Given the description of an element on the screen output the (x, y) to click on. 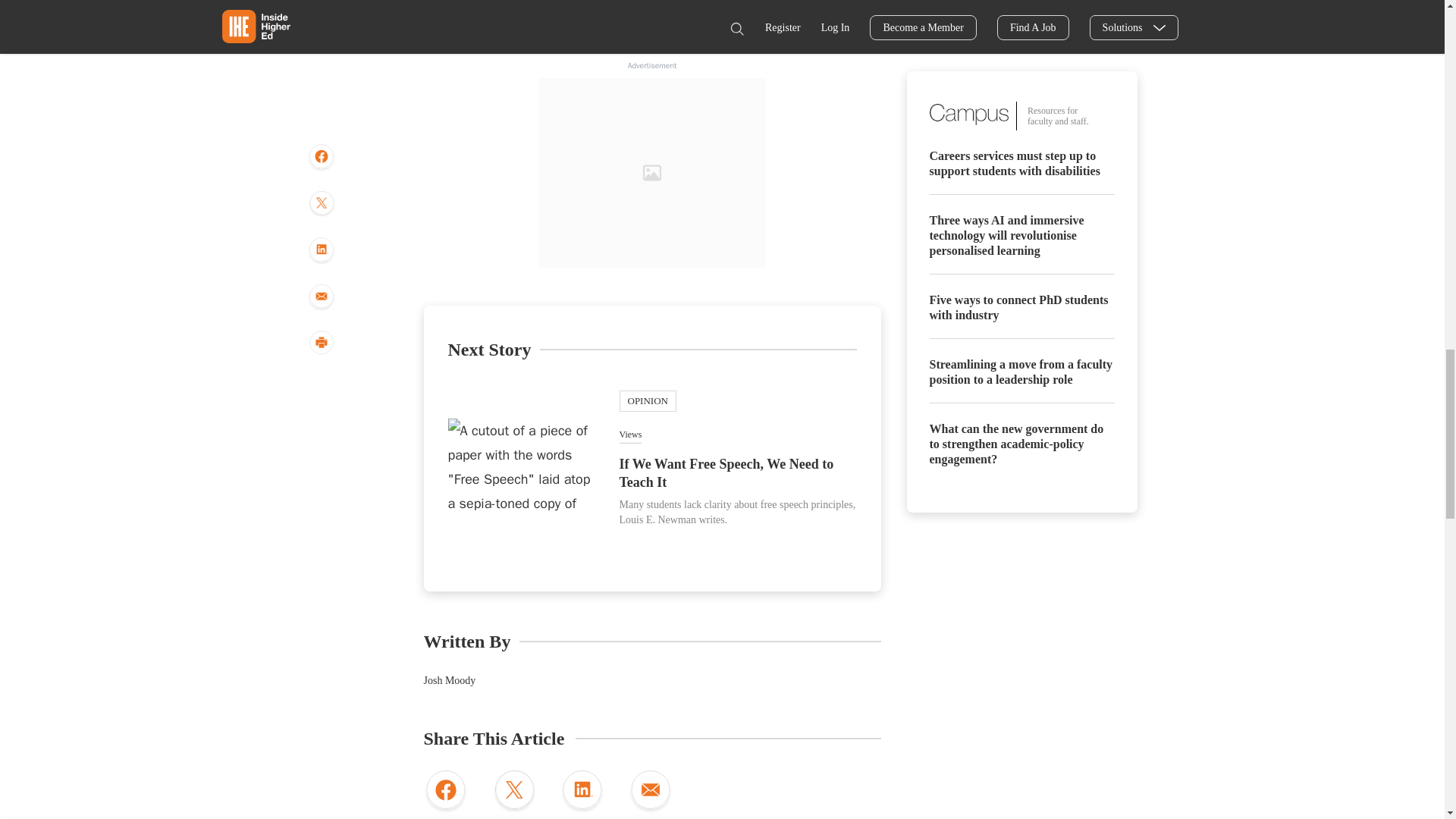
share to facebook (445, 792)
